Given the description of an element on the screen output the (x, y) to click on. 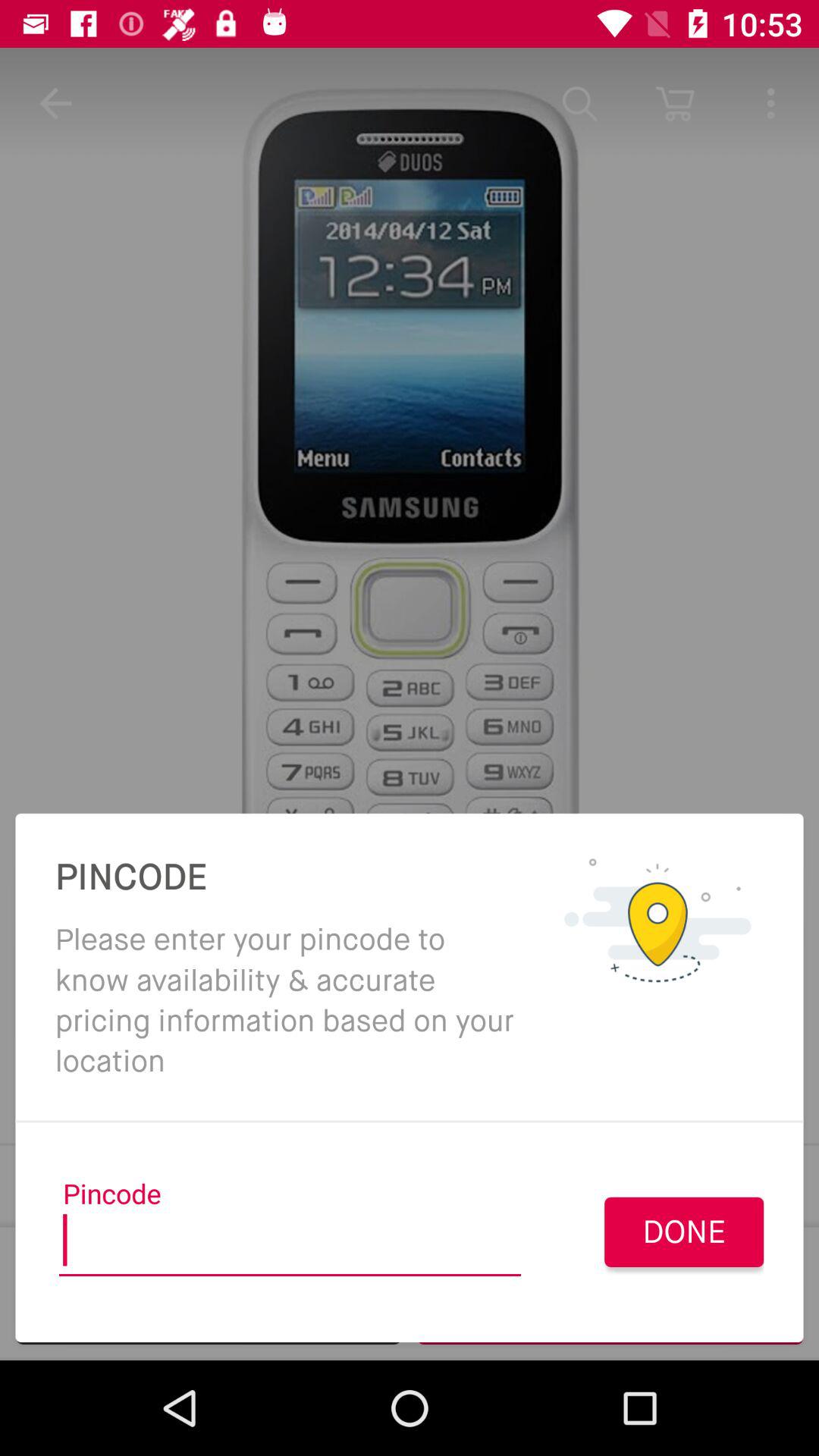
enter pincode (289, 1245)
